Given the description of an element on the screen output the (x, y) to click on. 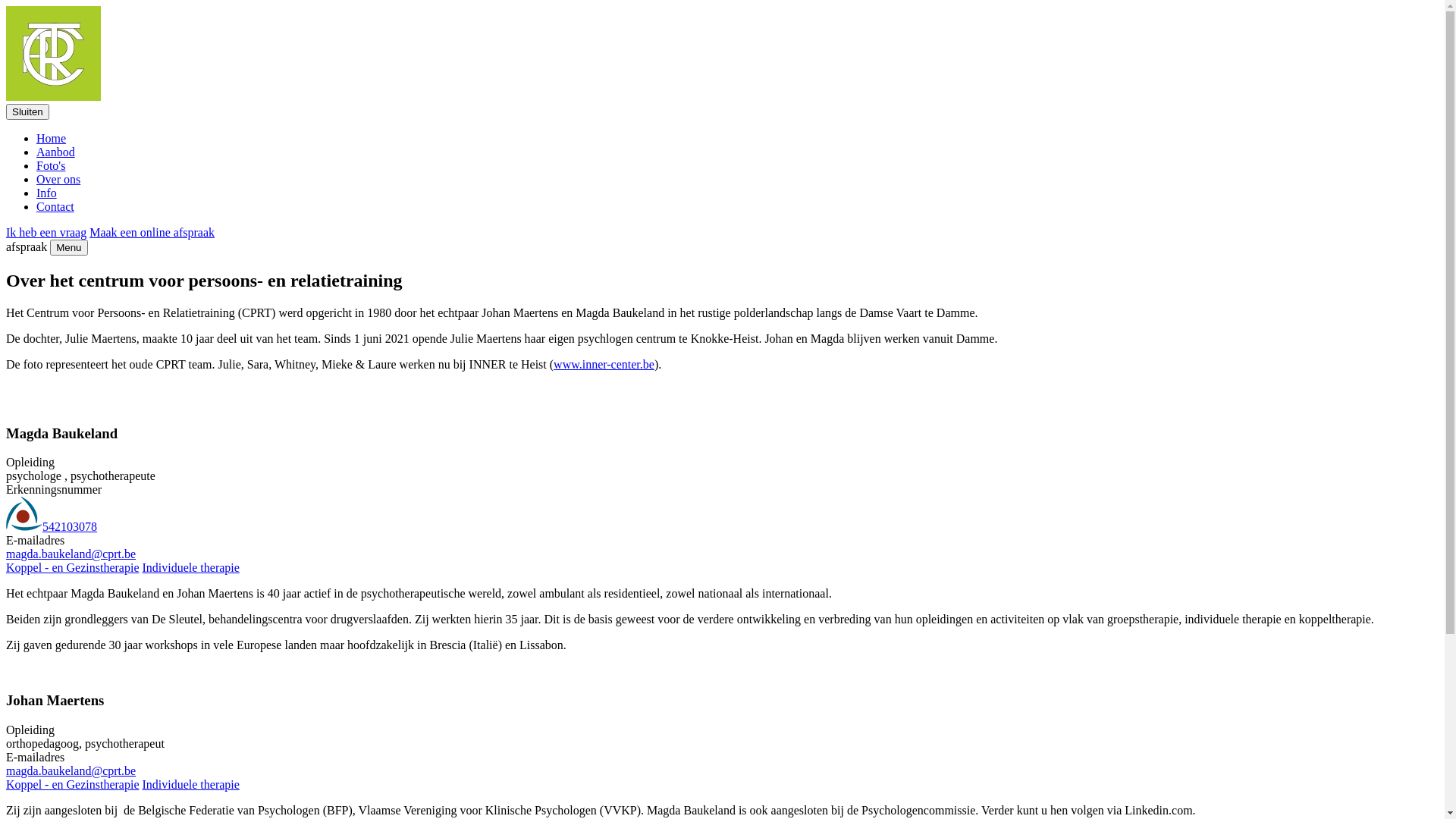
Over ons Element type: text (58, 178)
Koppel - en Gezinstherapie Element type: text (72, 784)
Aanbod Element type: text (55, 151)
magda.baukeland@cprt.be Element type: text (70, 553)
Maak een online afspraak Element type: text (151, 231)
Contact Element type: text (55, 206)
Koppel - en Gezinstherapie Element type: text (72, 567)
magda.baukeland@cprt.be Element type: text (70, 770)
Sluiten Element type: text (27, 111)
Menu Element type: text (68, 247)
www.inner-center.be Element type: text (603, 363)
Info Element type: text (46, 192)
CPRT Element type: hover (53, 96)
Foto's Element type: text (50, 165)
Individuele therapie Element type: text (189, 567)
Home Element type: text (50, 137)
afspraak Element type: text (26, 246)
Individuele therapie Element type: text (189, 784)
542103078 Element type: text (51, 526)
Ik heb een vraag Element type: text (46, 231)
